Given the description of an element on the screen output the (x, y) to click on. 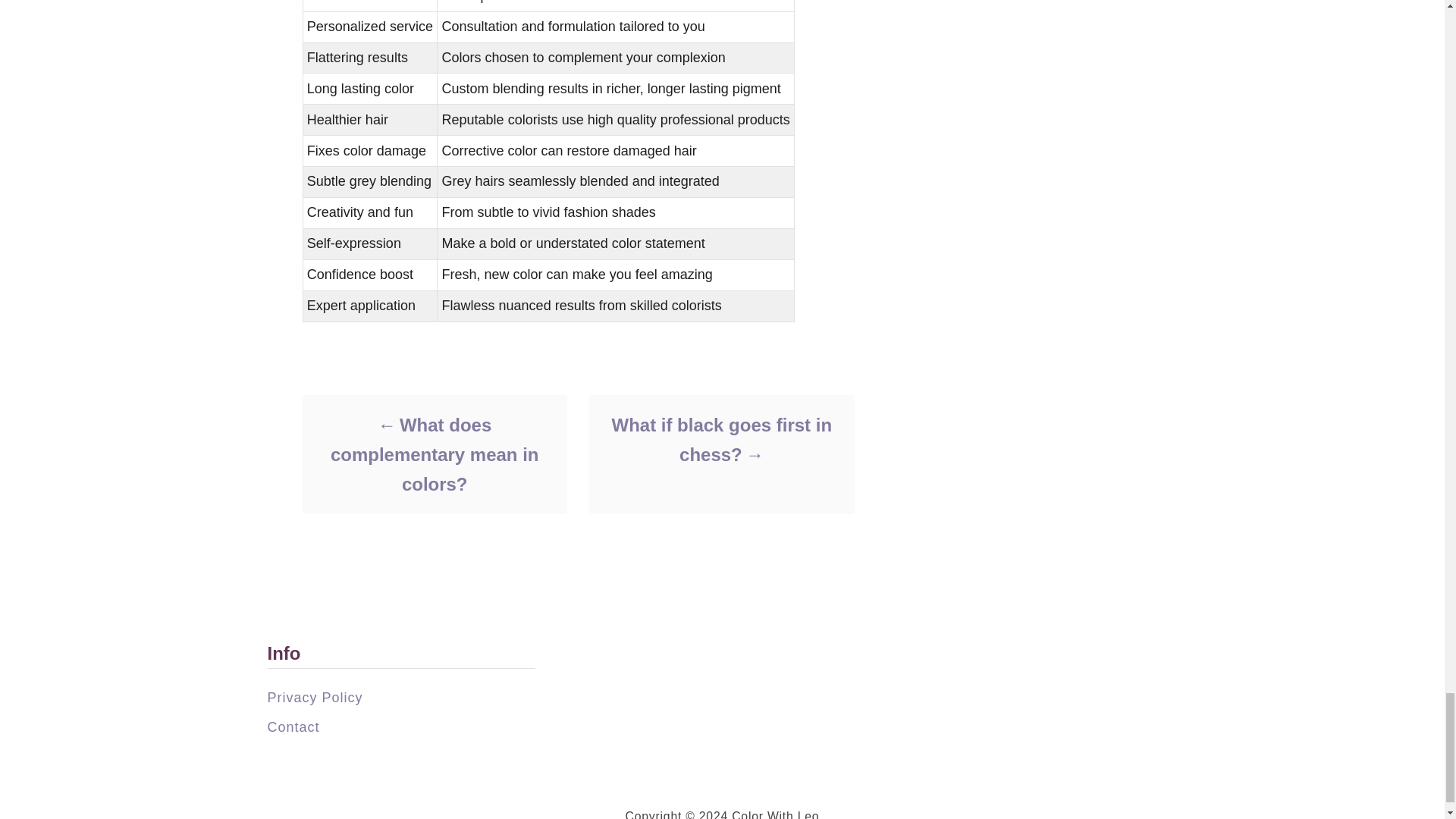
What if black goes first in chess? (721, 439)
Privacy Policy (314, 697)
Contact (292, 726)
What does complementary mean in colors? (434, 454)
